Given the description of an element on the screen output the (x, y) to click on. 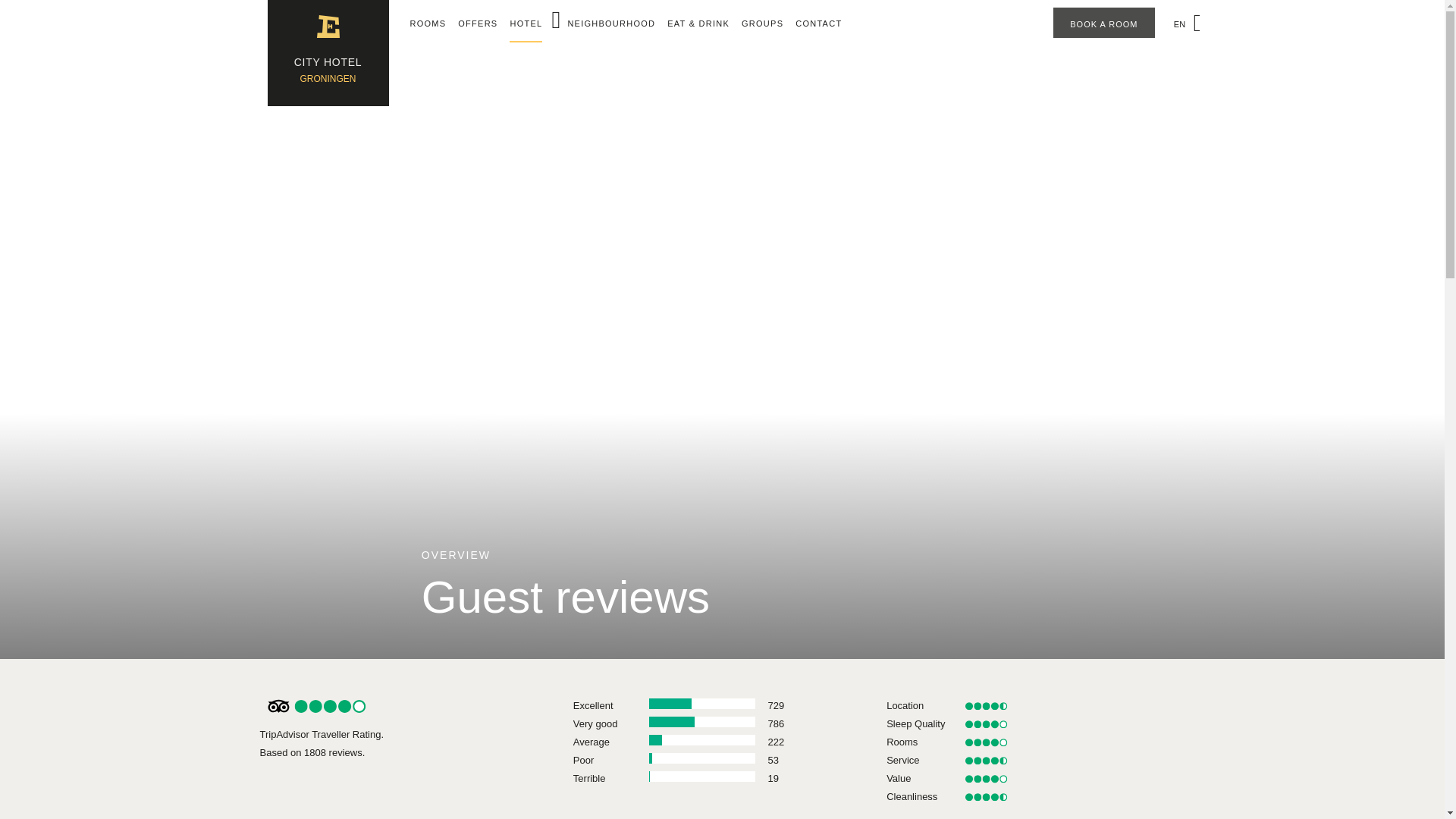
OFFERS (477, 22)
Rooms: 4.0 (986, 742)
EN (1182, 24)
ROOMS (427, 22)
CONTACT (817, 22)
Service: 4.5 (986, 760)
HOTEL (525, 23)
GROUPS (762, 22)
Value: 4.0 (986, 778)
City Hotel Groningen (327, 53)
